Given the description of an element on the screen output the (x, y) to click on. 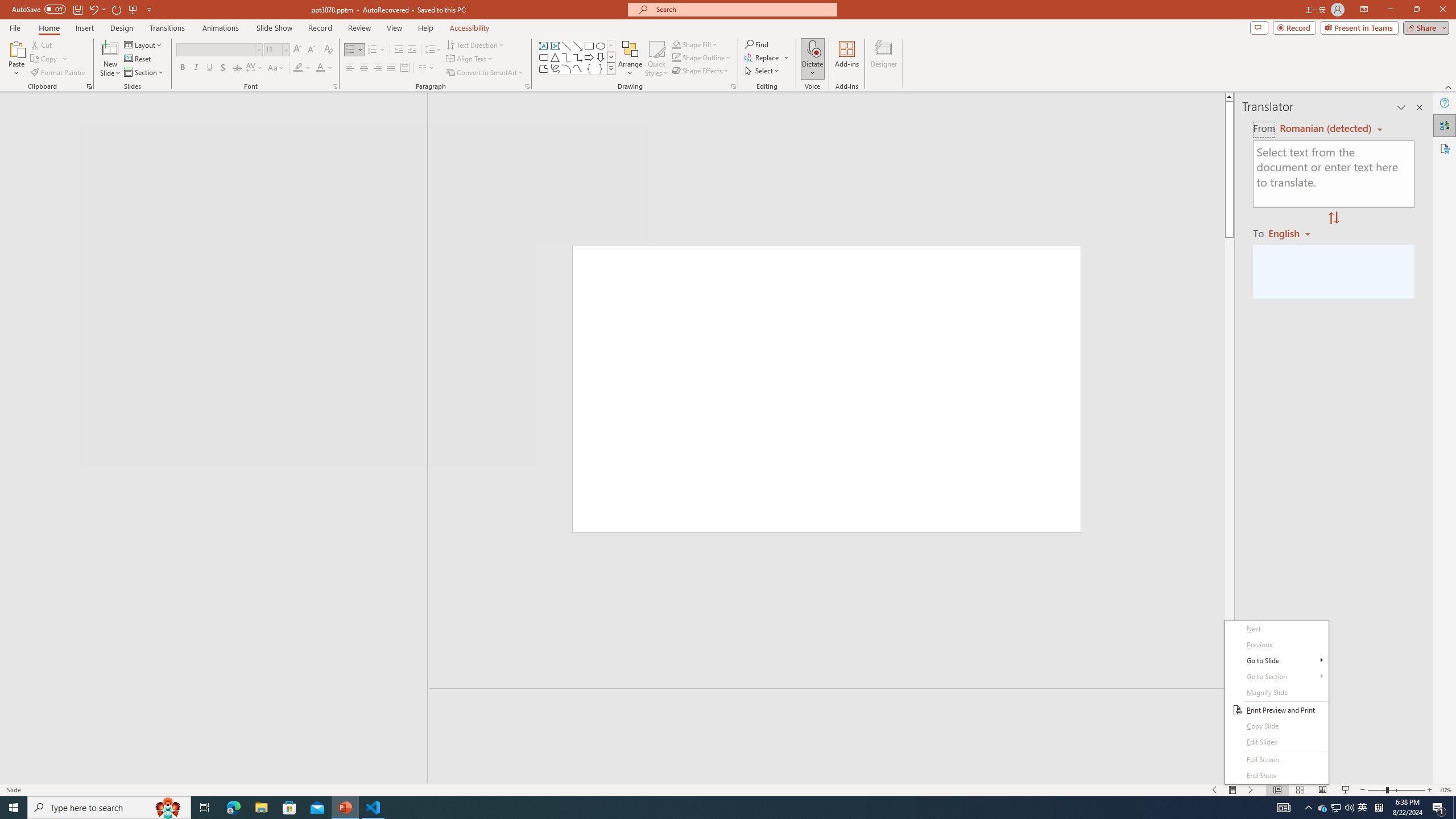
Freeform: Shape (543, 68)
Text Highlight Color Yellow (297, 67)
Format Painter (58, 72)
Curve (577, 68)
Magnify Slide (1276, 692)
Go to Slide (1276, 660)
